Given the description of an element on the screen output the (x, y) to click on. 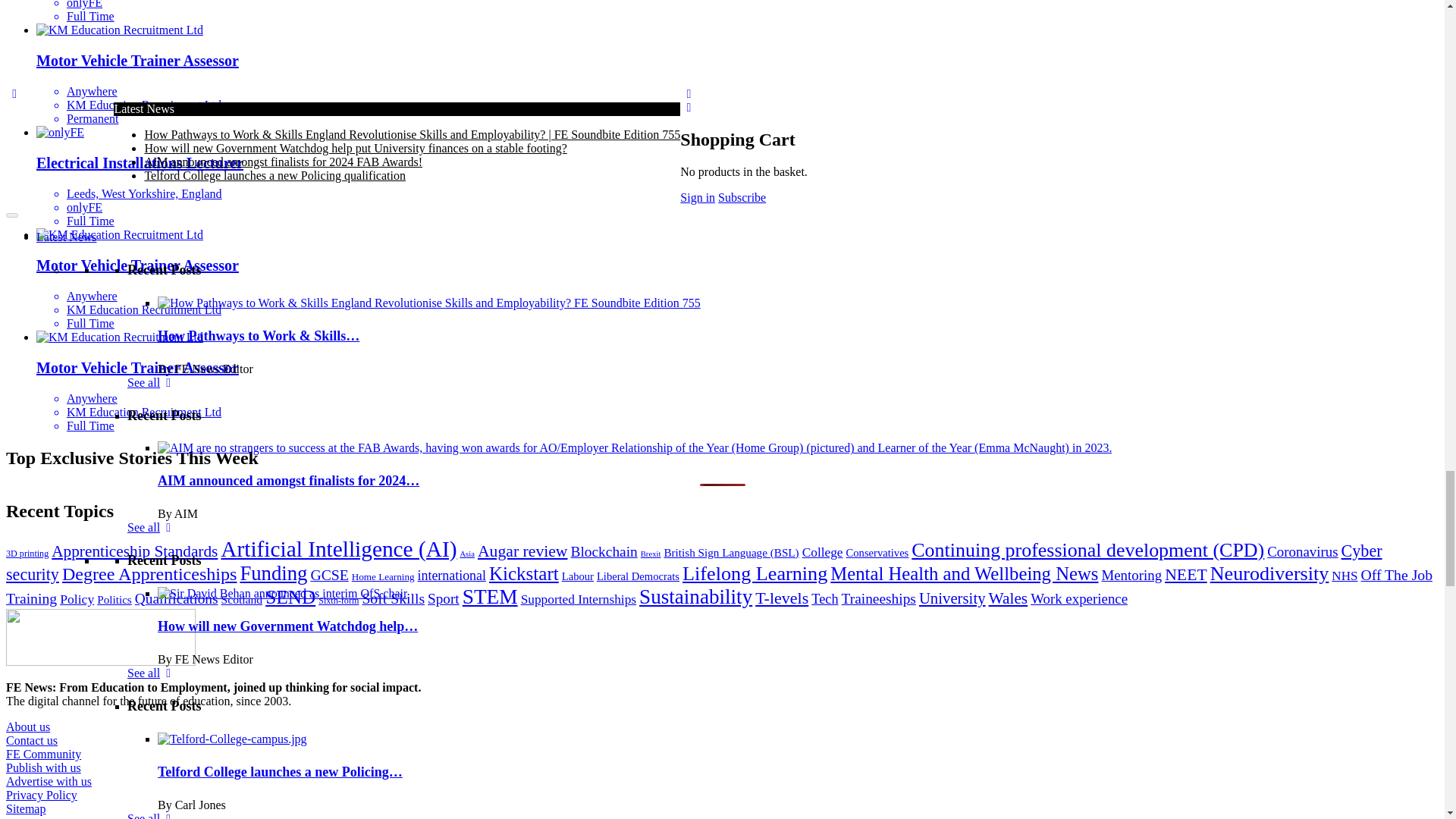
4 content types (424, 88)
